Given the description of an element on the screen output the (x, y) to click on. 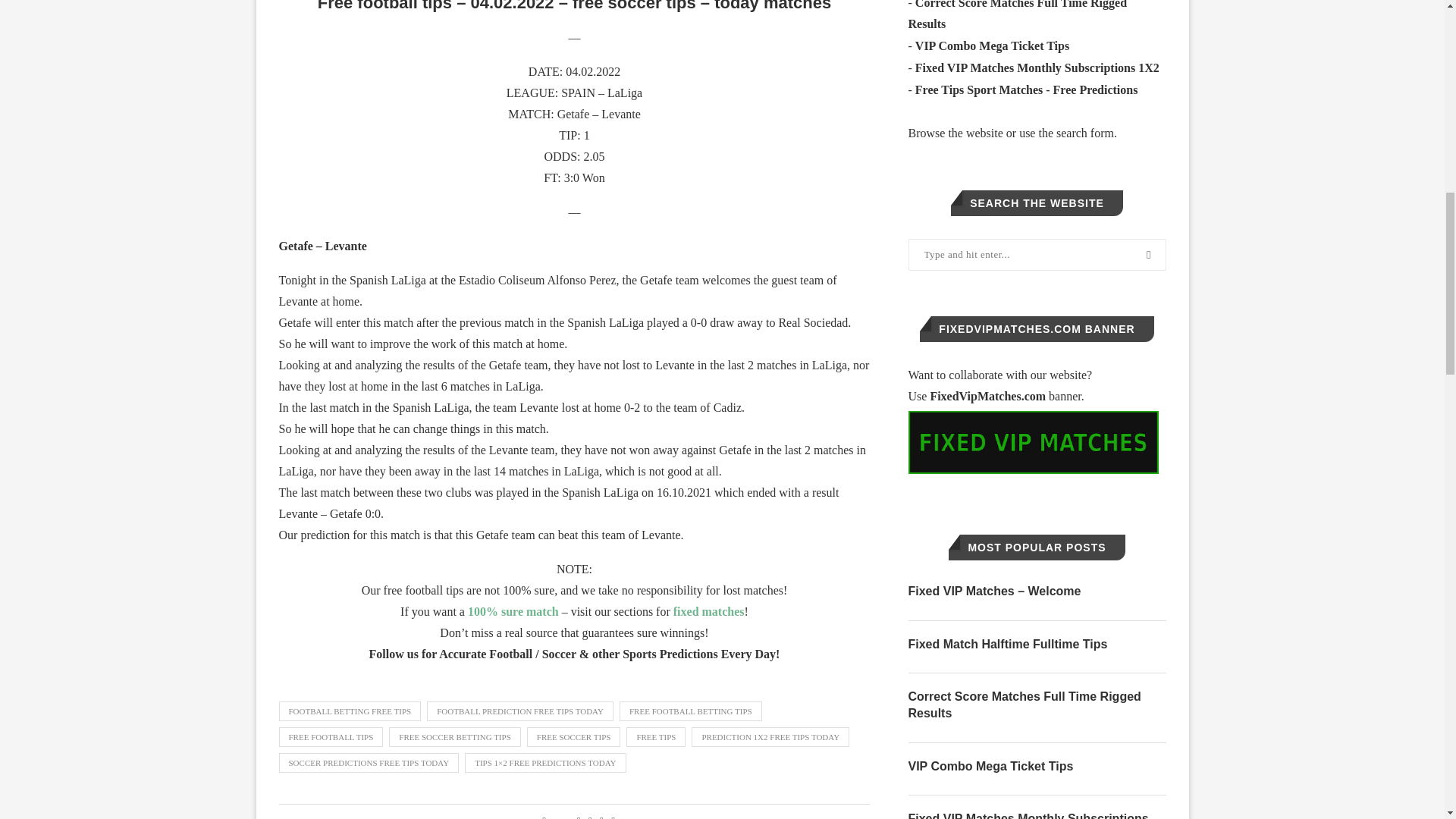
FREE SOCCER BETTING TIPS (453, 736)
fixed matches (708, 611)
Fixed VIP Matches Monthly Subscriptions 1X2 (1036, 67)
Primera A - Apertura (624, 92)
FREE FOOTBALL TIPS (331, 736)
VIP Combo Mega Ticket Tips (991, 45)
SOCCER PREDICTIONS FREE TIPS TODAY (369, 762)
Fixed matches (708, 611)
Correct Score Matches Full Time Rigged Results (1017, 15)
FOOTBALL BETTING FREE TIPS (350, 711)
PREDICTION 1X2 FREE TIPS TODAY (769, 736)
FREE SOCCER TIPS (574, 736)
FREE FOOTBALL BETTING TIPS (690, 711)
FOOTBALL PREDICTION FREE TIPS TODAY (519, 711)
Like (553, 817)
